Given the description of an element on the screen output the (x, y) to click on. 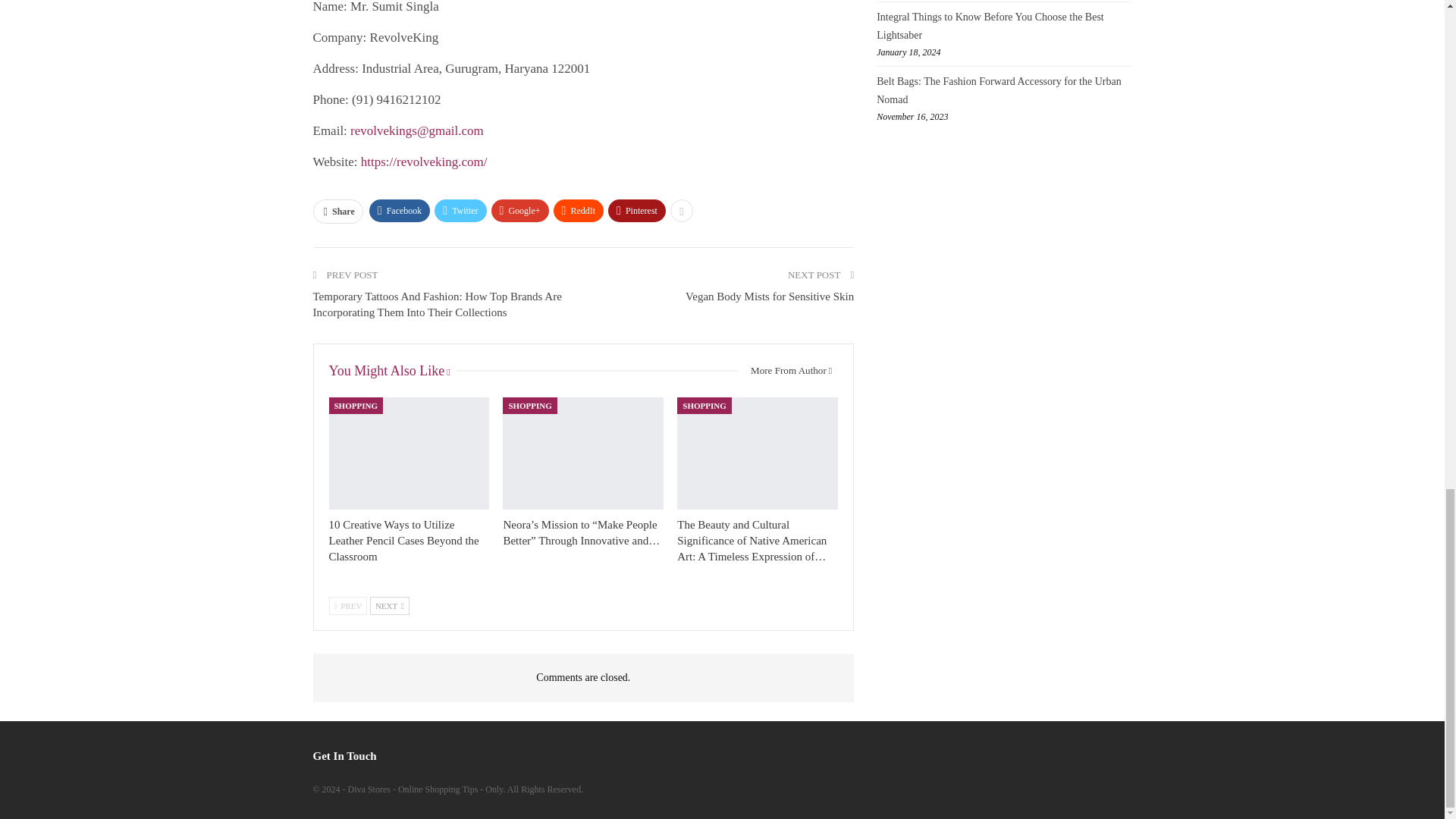
Previous (348, 606)
Next (389, 606)
